Given the description of an element on the screen output the (x, y) to click on. 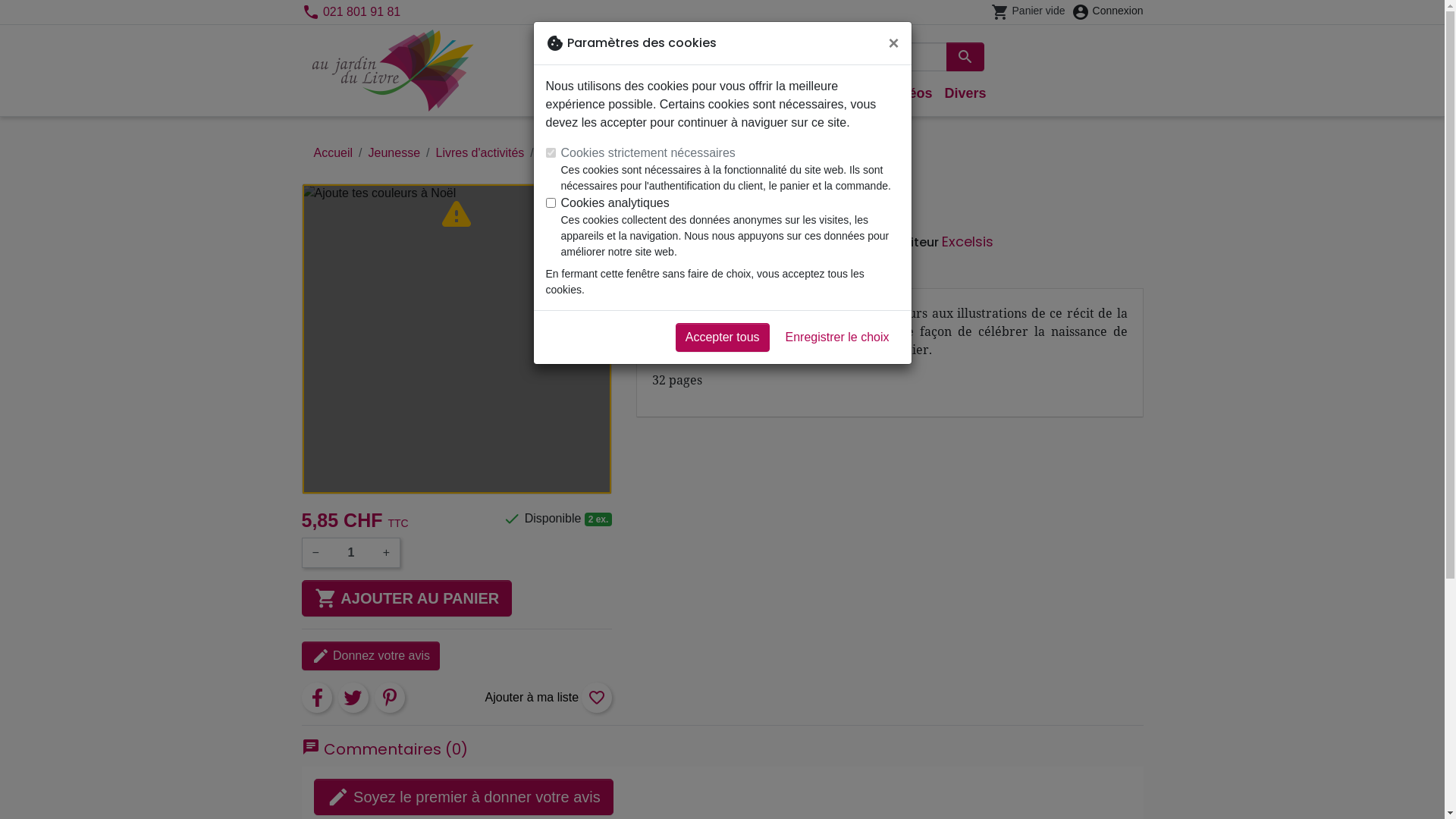
Antonia Jackson Element type: text (692, 219)
+ Element type: text (386, 552)
Description Element type: text (670, 278)
facebook Element type: text (316, 697)
Musique Element type: text (847, 93)
pinterest Element type: text (389, 697)
Jeunesse Element type: text (394, 152)
account_circle
Connexion Element type: text (1107, 12)
search
Rechercher Element type: text (965, 56)
favorite_border Element type: text (548, 697)
Accueil Element type: text (333, 152)
Enregistrer le choix Element type: text (837, 337)
edit Donnez votre avis Element type: text (370, 655)
twitter Element type: text (353, 697)
Divers Element type: text (964, 93)
Excelsis Element type: text (967, 241)
shopping_cart
Panier vide Element type: text (1028, 12)
Accepter tous Element type: text (722, 337)
Bibles Element type: text (660, 93)
Livres Element type: text (713, 93)
Jeunesse Element type: text (777, 93)
